Given the description of an element on the screen output the (x, y) to click on. 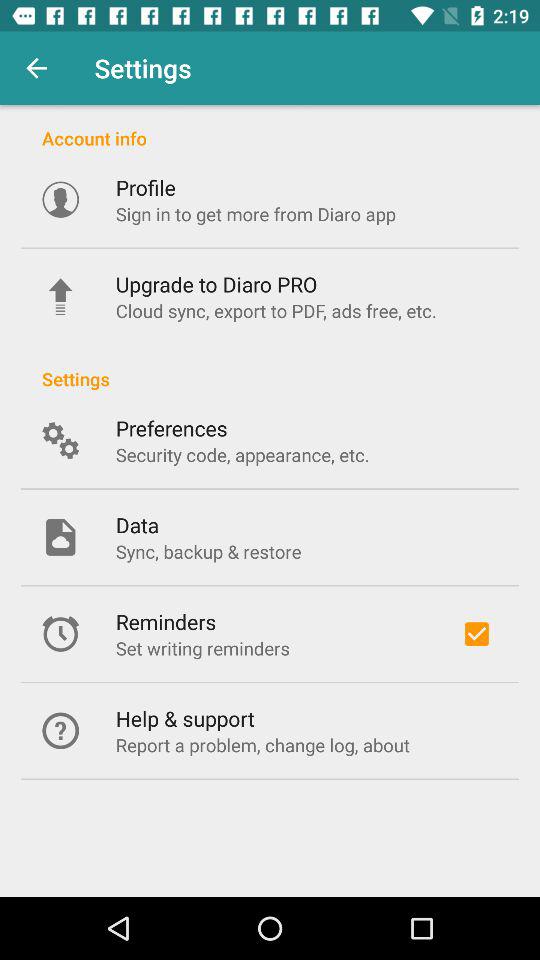
open app next to settings (36, 68)
